Given the description of an element on the screen output the (x, y) to click on. 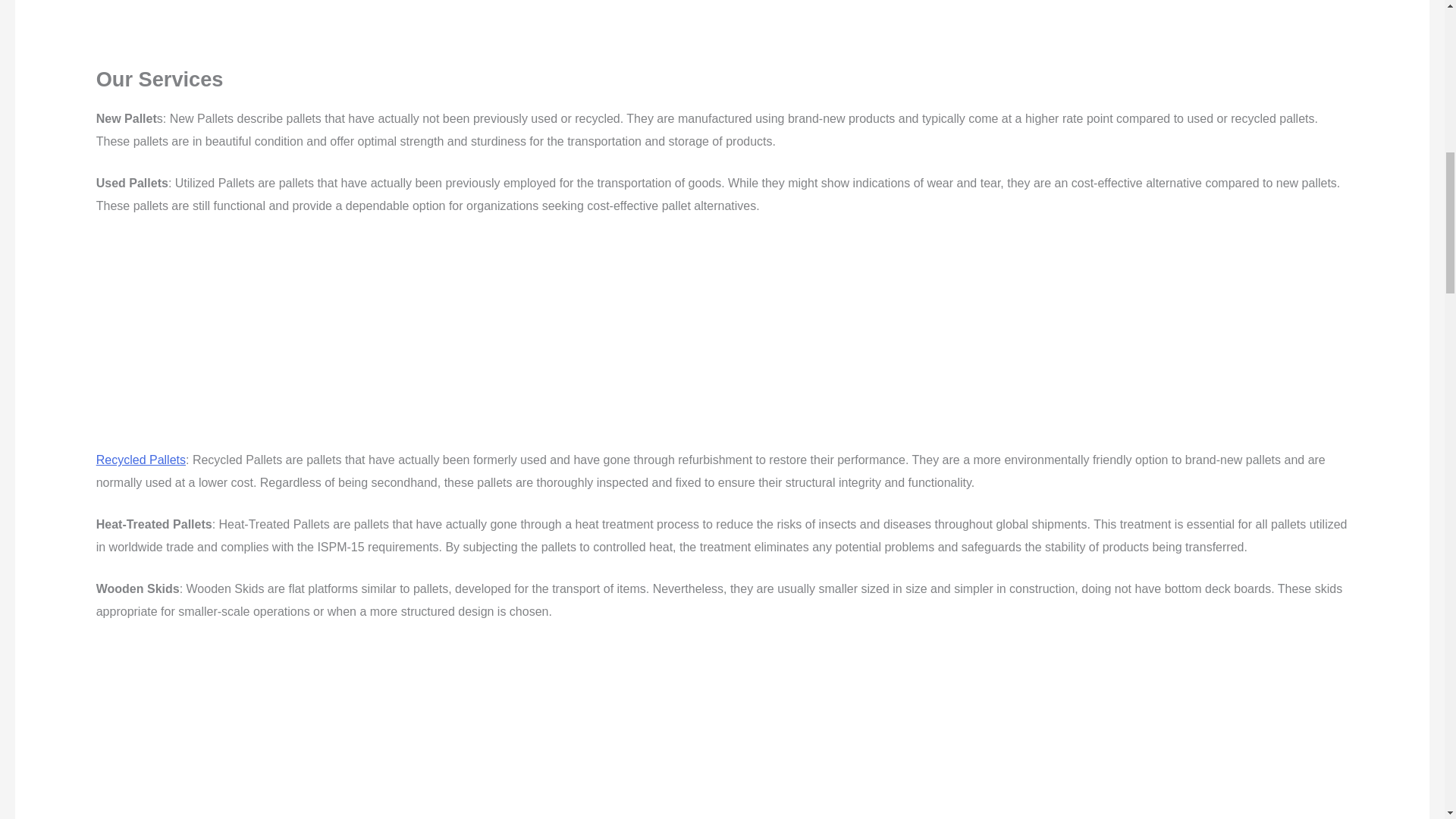
Recycled Pallets (141, 459)
